Given the description of an element on the screen output the (x, y) to click on. 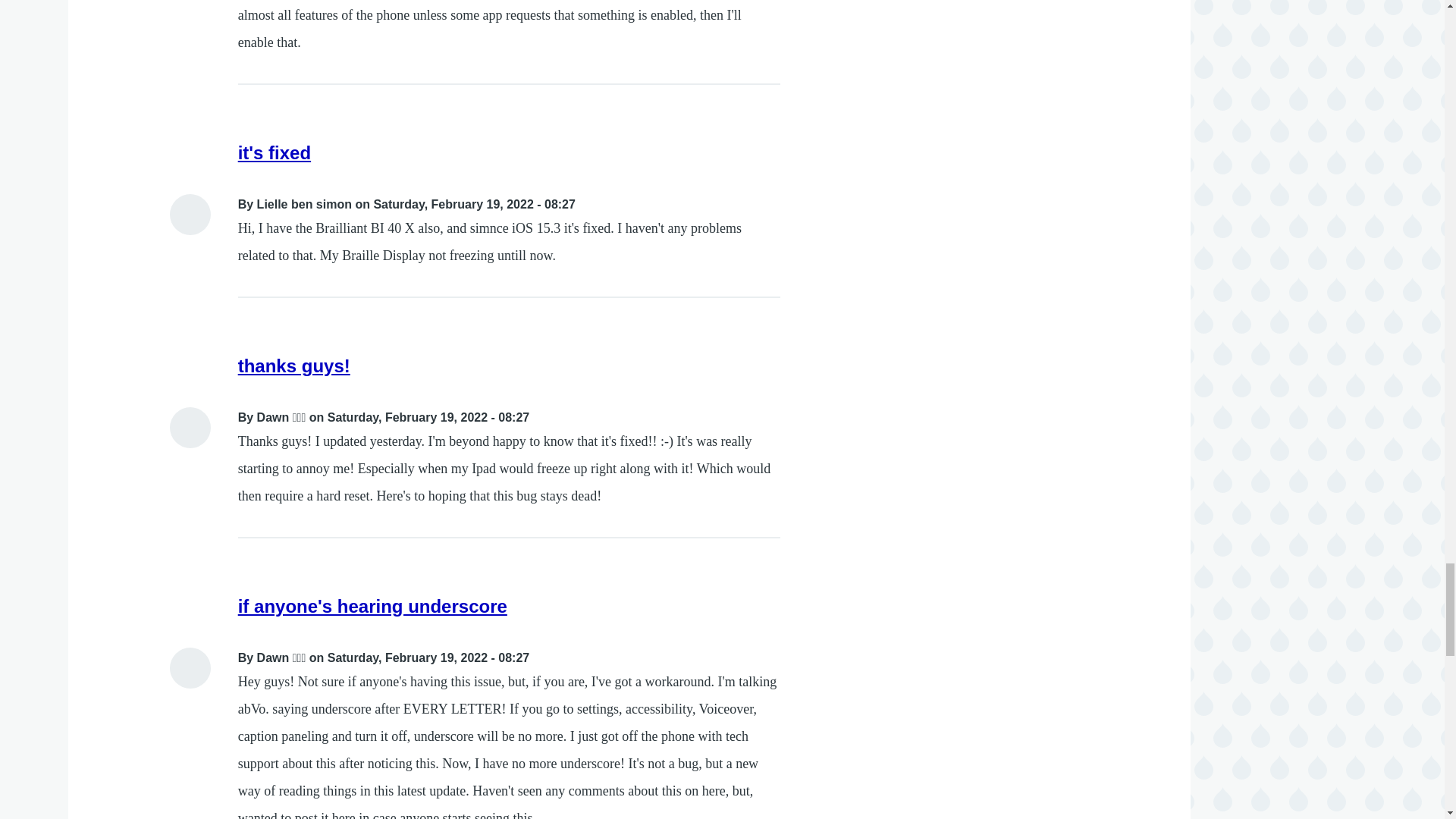
it's fixed (274, 152)
